Given the description of an element on the screen output the (x, y) to click on. 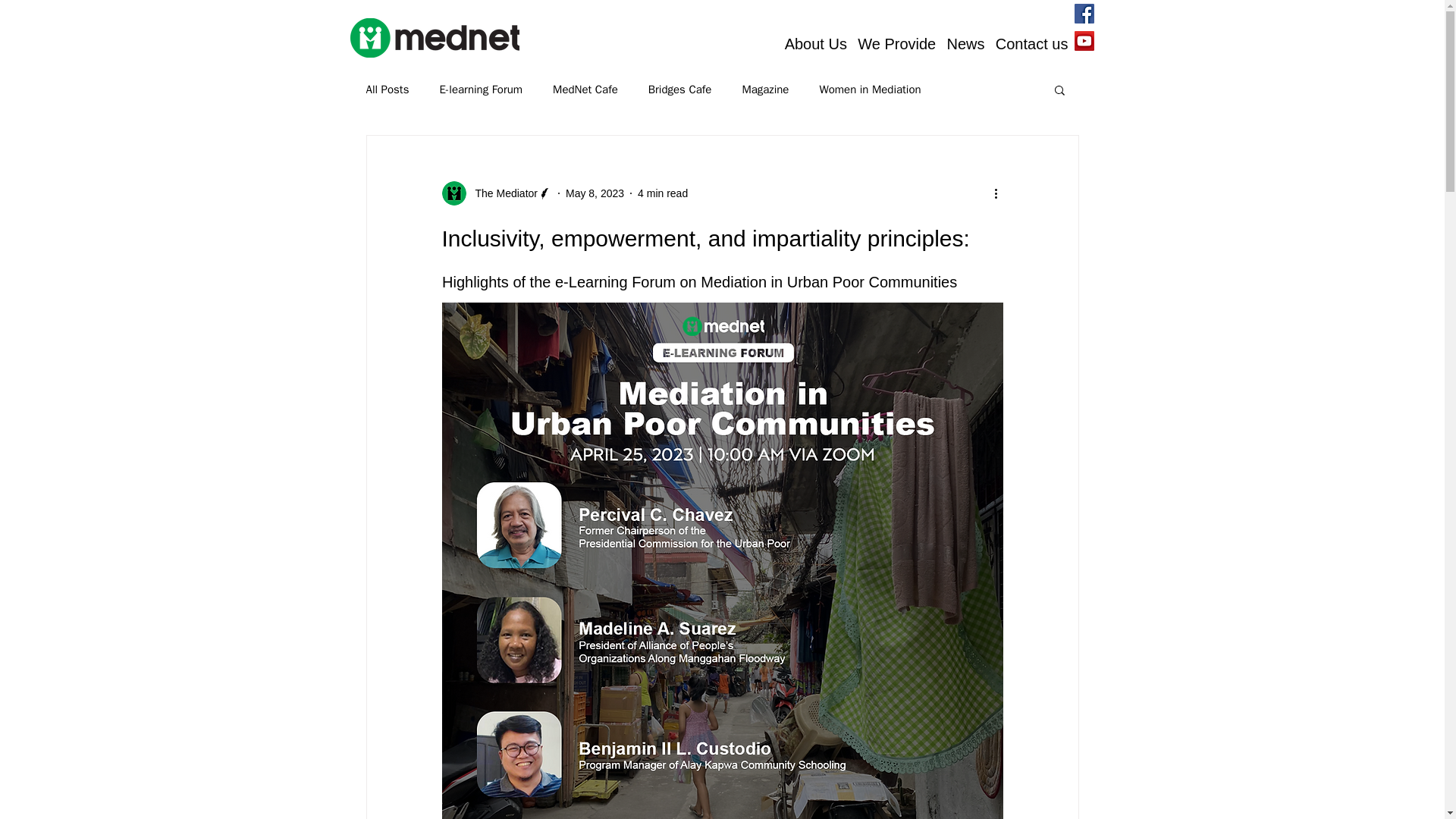
Women in Mediation (869, 88)
Bridges Cafe (679, 88)
May 8, 2023 (595, 192)
The Mediator (496, 192)
The Mediator (501, 192)
MedNet Cafe (585, 88)
All Posts (387, 88)
Magazine (765, 88)
4 min read (662, 192)
Contact us (1032, 43)
E-learning Forum (480, 88)
